Given the description of an element on the screen output the (x, y) to click on. 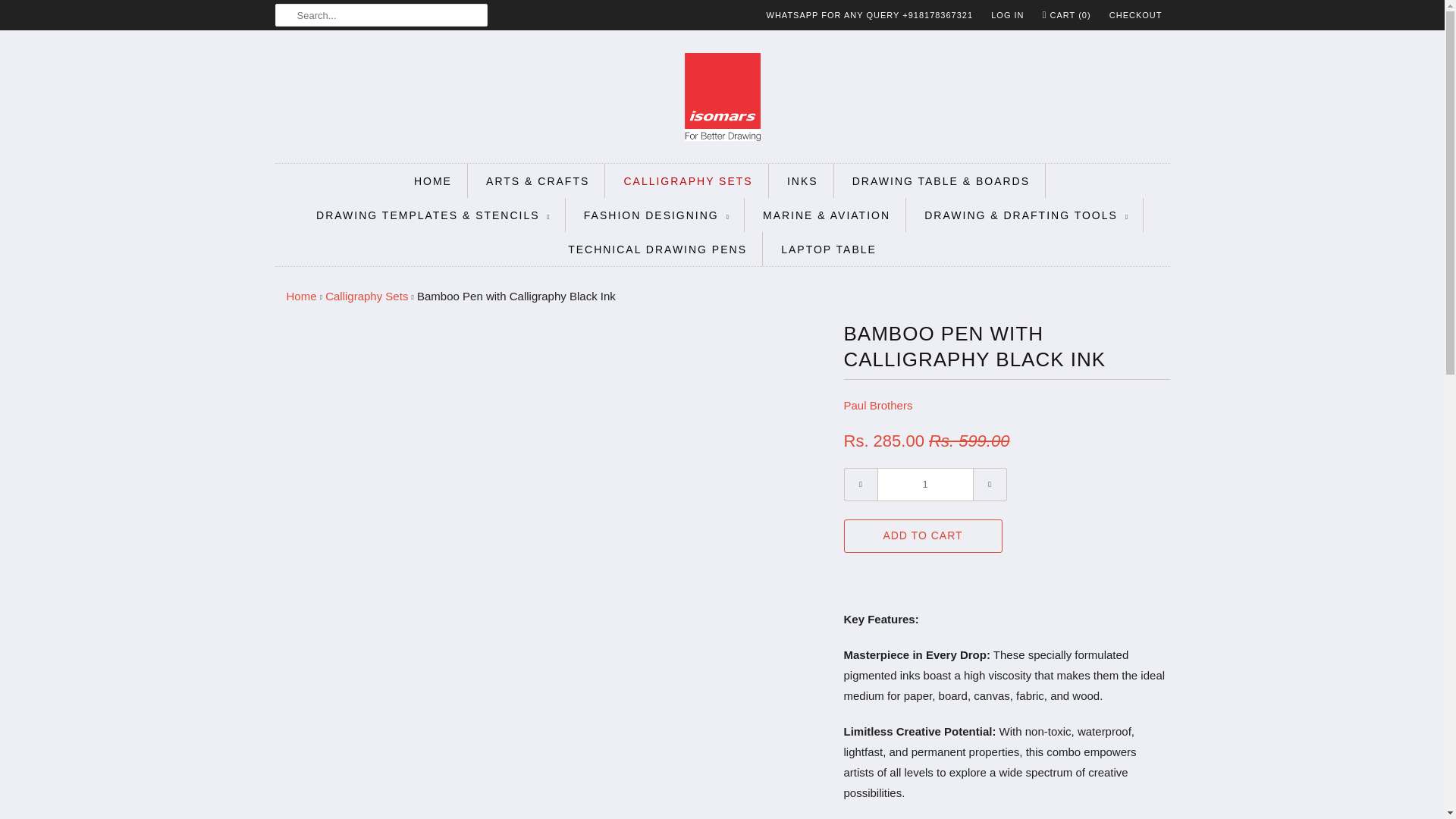
CALLIGRAPHY SETS (687, 181)
Home (301, 295)
1 (924, 484)
INKS (802, 181)
Calligraphy Sets (365, 295)
HOME (432, 181)
Paul Brothers (877, 404)
LOG IN (1007, 15)
LAPTOP TABLE (828, 249)
Isomars (301, 295)
FASHION DESIGNING (656, 215)
CHECKOUT (1135, 15)
Paul Brothers (877, 404)
TECHNICAL DRAWING PENS (656, 249)
Calligraphy Sets (365, 295)
